Given the description of an element on the screen output the (x, y) to click on. 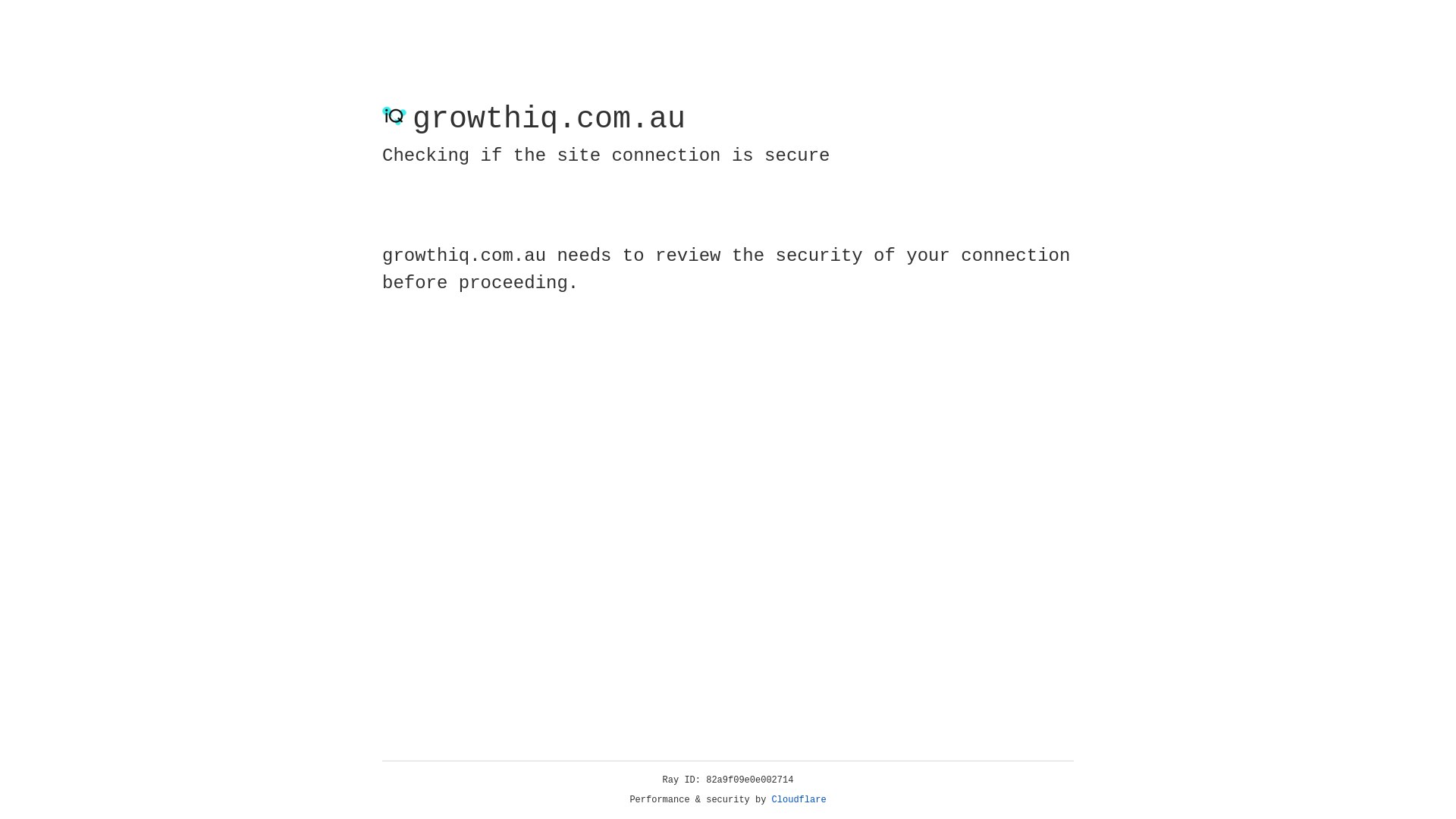
Cloudflare Element type: text (798, 799)
